Given the description of an element on the screen output the (x, y) to click on. 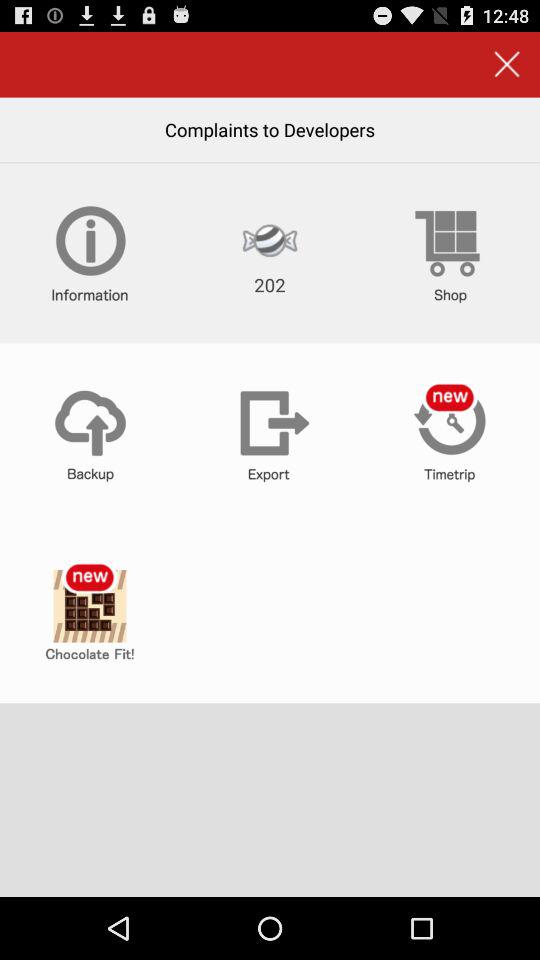
close the complements to developer window (506, 64)
